Given the description of an element on the screen output the (x, y) to click on. 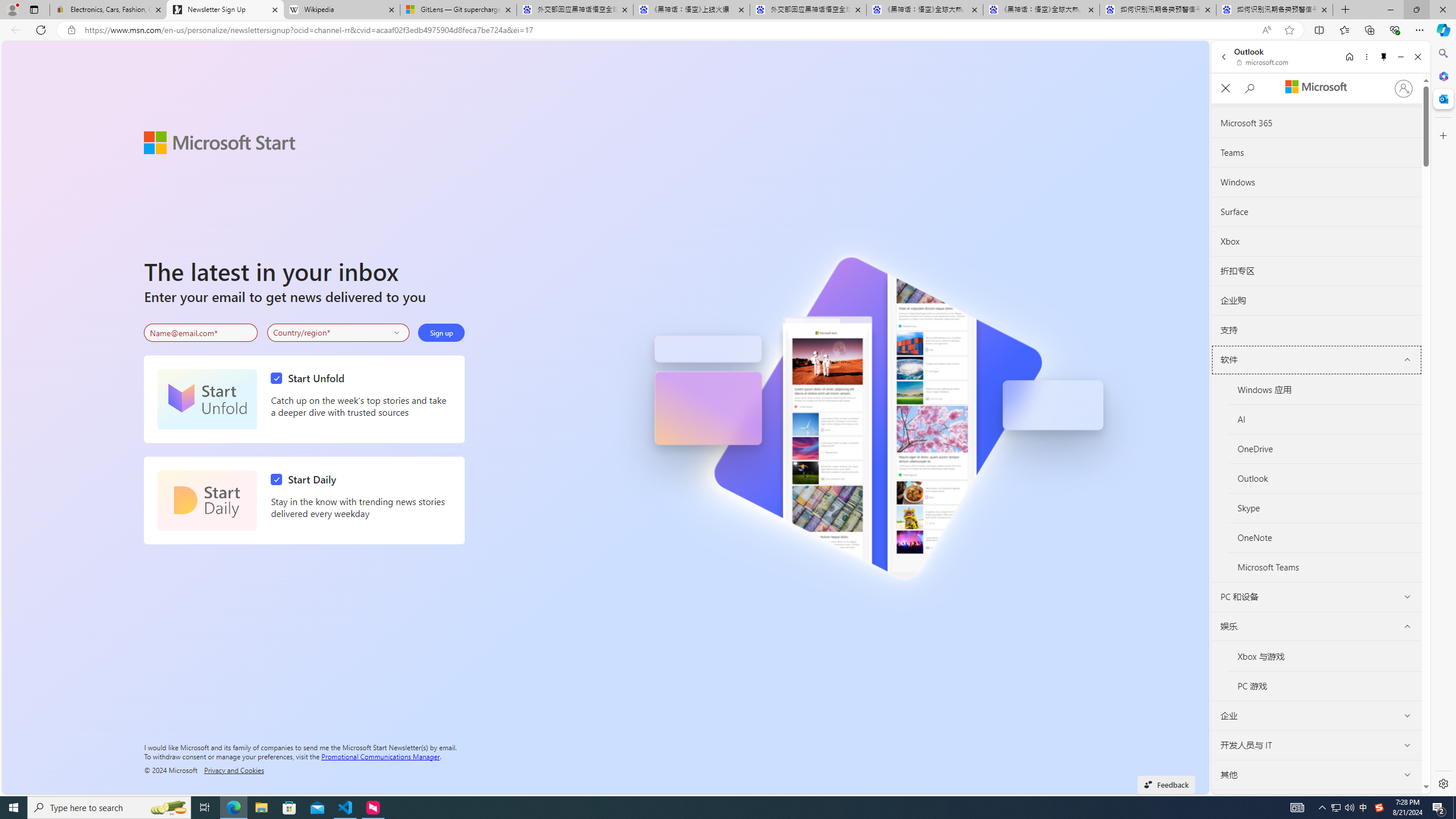
Microsoft Teams (1325, 567)
Unpin side pane (1383, 56)
Teams (1316, 152)
OneNote (1325, 538)
